Given the description of an element on the screen output the (x, y) to click on. 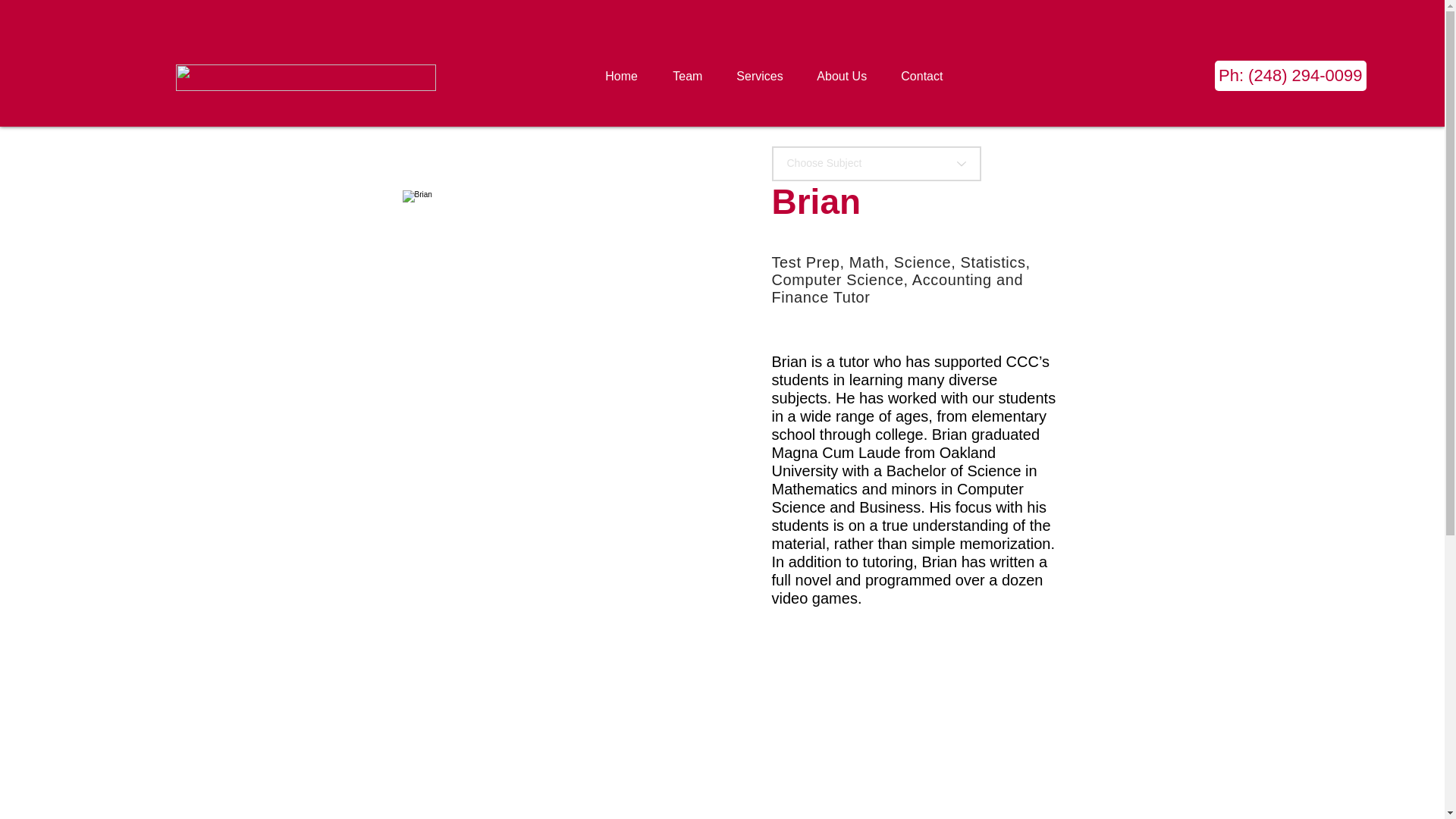
About Us (847, 76)
Services (765, 76)
Contact (927, 76)
Home (627, 76)
brian.webp (549, 338)
college-choice-counseling.webp (305, 77)
Team (693, 76)
